Given the description of an element on the screen output the (x, y) to click on. 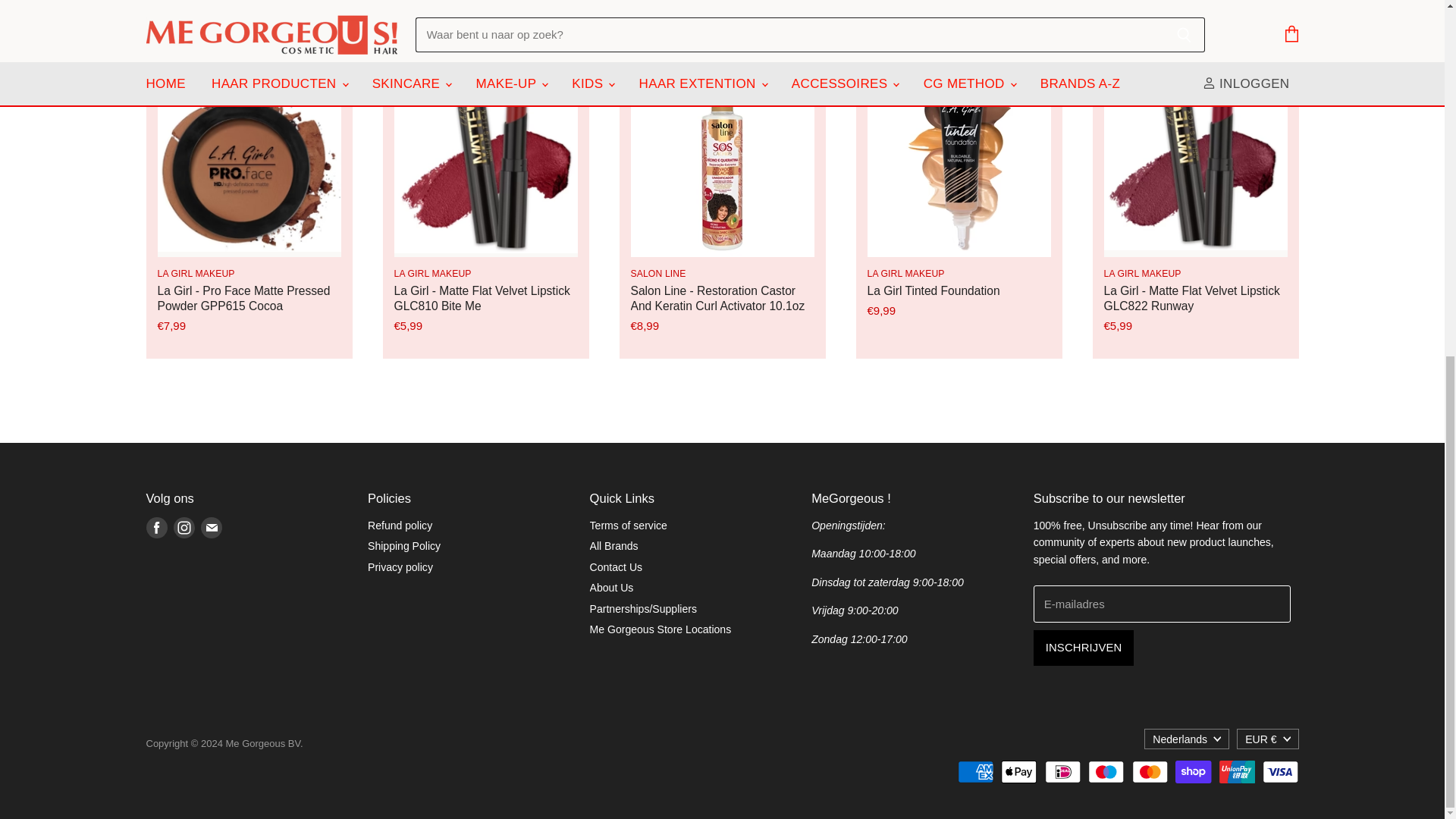
Instagram (183, 527)
E-mail (210, 527)
Facebook (156, 527)
